Given the description of an element on the screen output the (x, y) to click on. 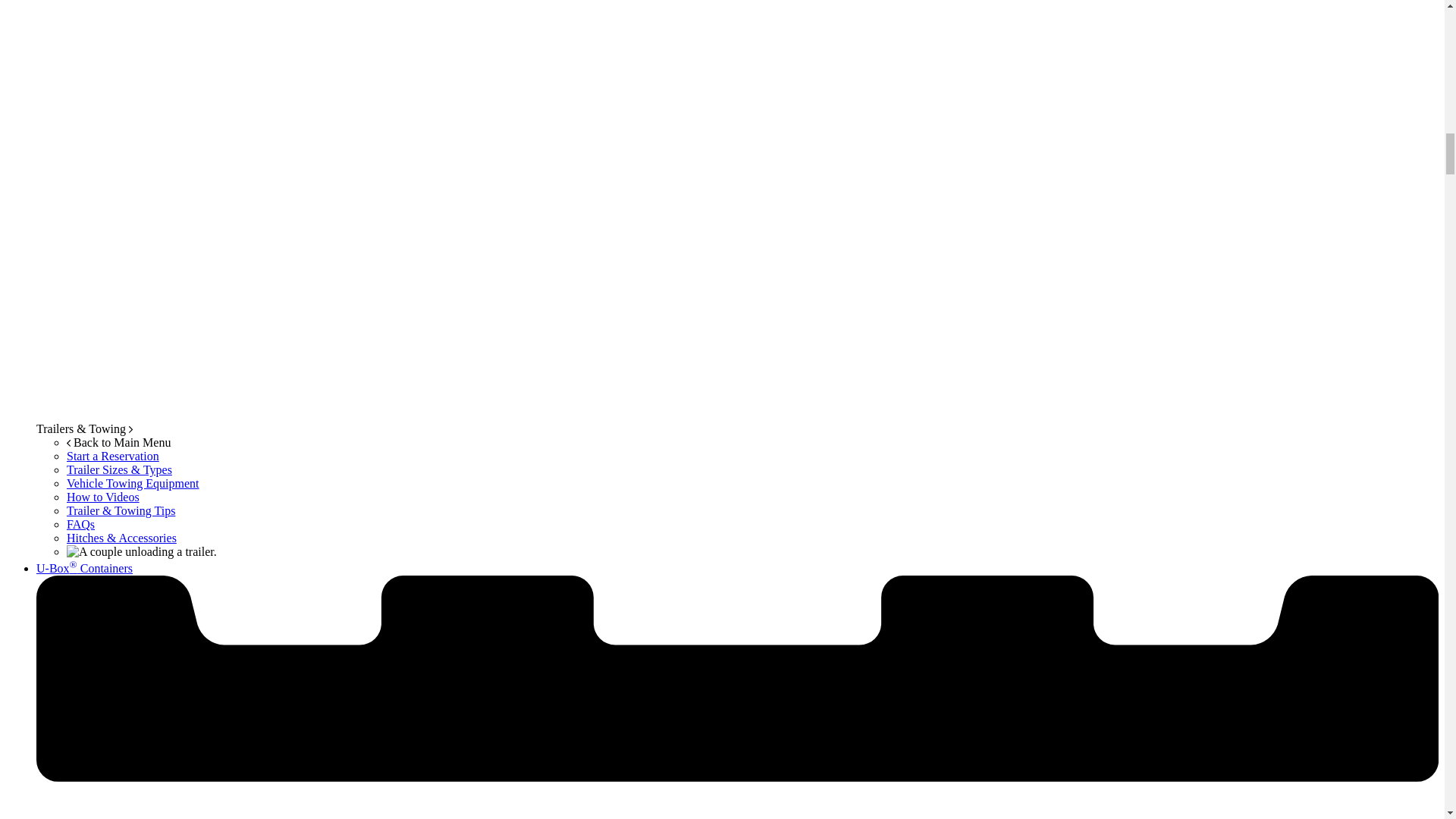
Vehicle Towing Equipment (132, 482)
How to Videos (102, 496)
Start a Reservation (112, 455)
FAQs (80, 523)
Back to Main Menu (118, 441)
